Given the description of an element on the screen output the (x, y) to click on. 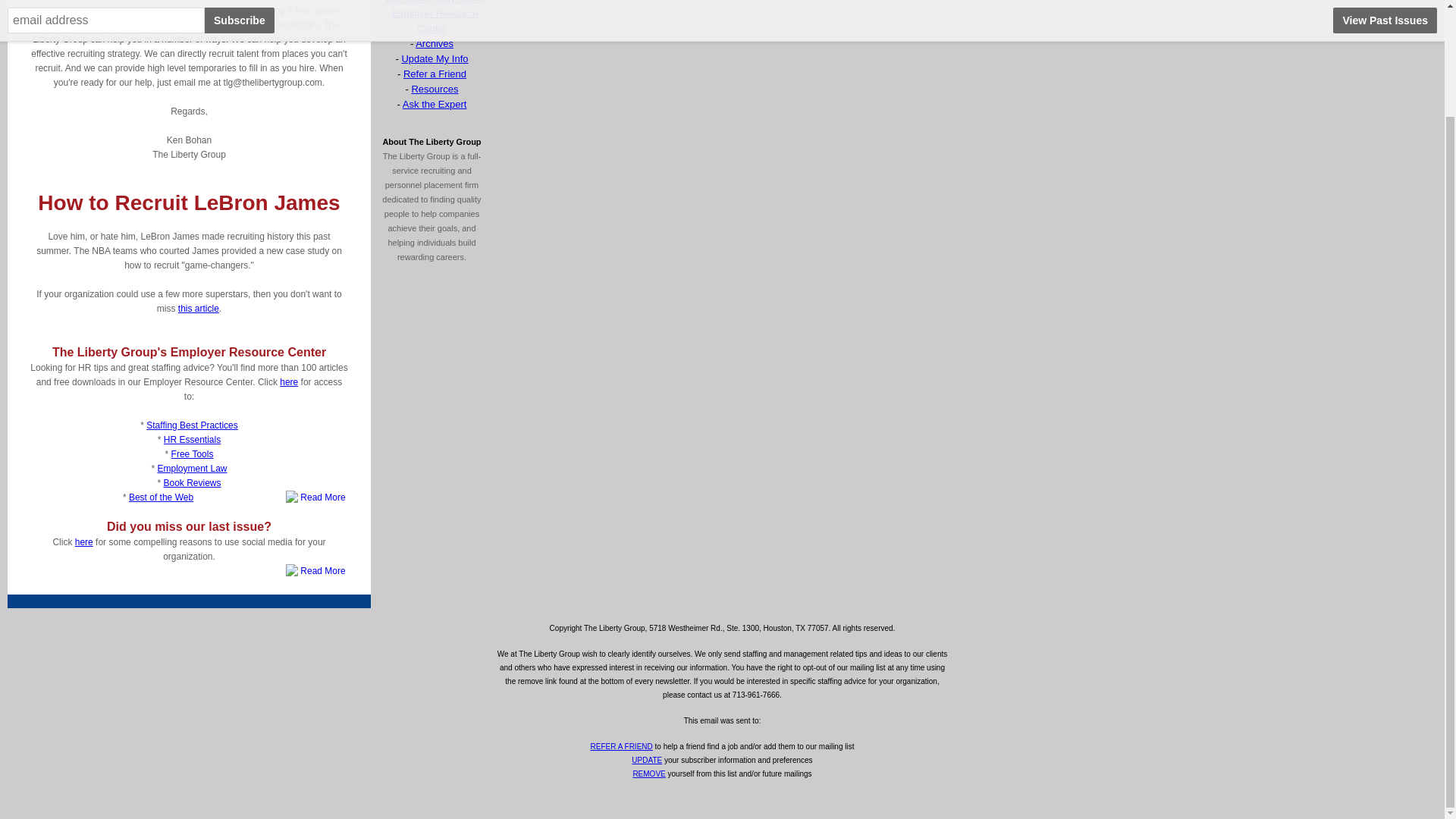
HR Essentials (192, 439)
Archives (433, 43)
Refer a Friend (434, 73)
Employer Resource Center (434, 20)
Staffing Best Practices (192, 425)
REFER A FRIEND (621, 746)
UPDATE (646, 759)
here (288, 381)
Best of the Web (161, 497)
Get Active, Stay Active (434, 2)
Free Tools (192, 453)
Employment Law (192, 468)
this article (198, 308)
Book Reviews (192, 482)
Ask the Expert (435, 103)
